Given the description of an element on the screen output the (x, y) to click on. 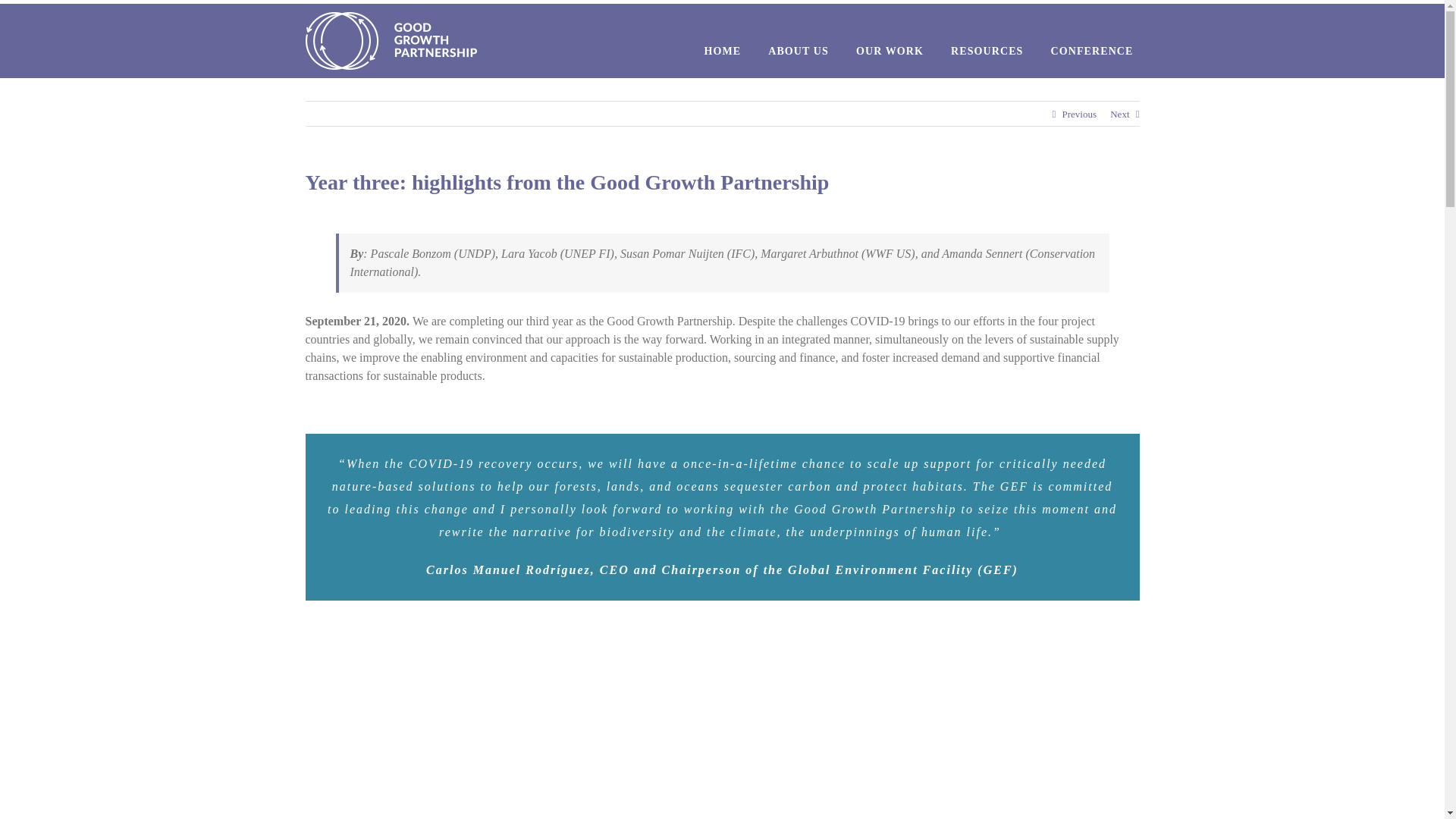
ABOUT US (797, 51)
CONFERENCE (1090, 51)
OUR WORK (890, 51)
YouTube video player (722, 735)
HOME (721, 51)
RESOURCES (986, 51)
